Given the description of an element on the screen output the (x, y) to click on. 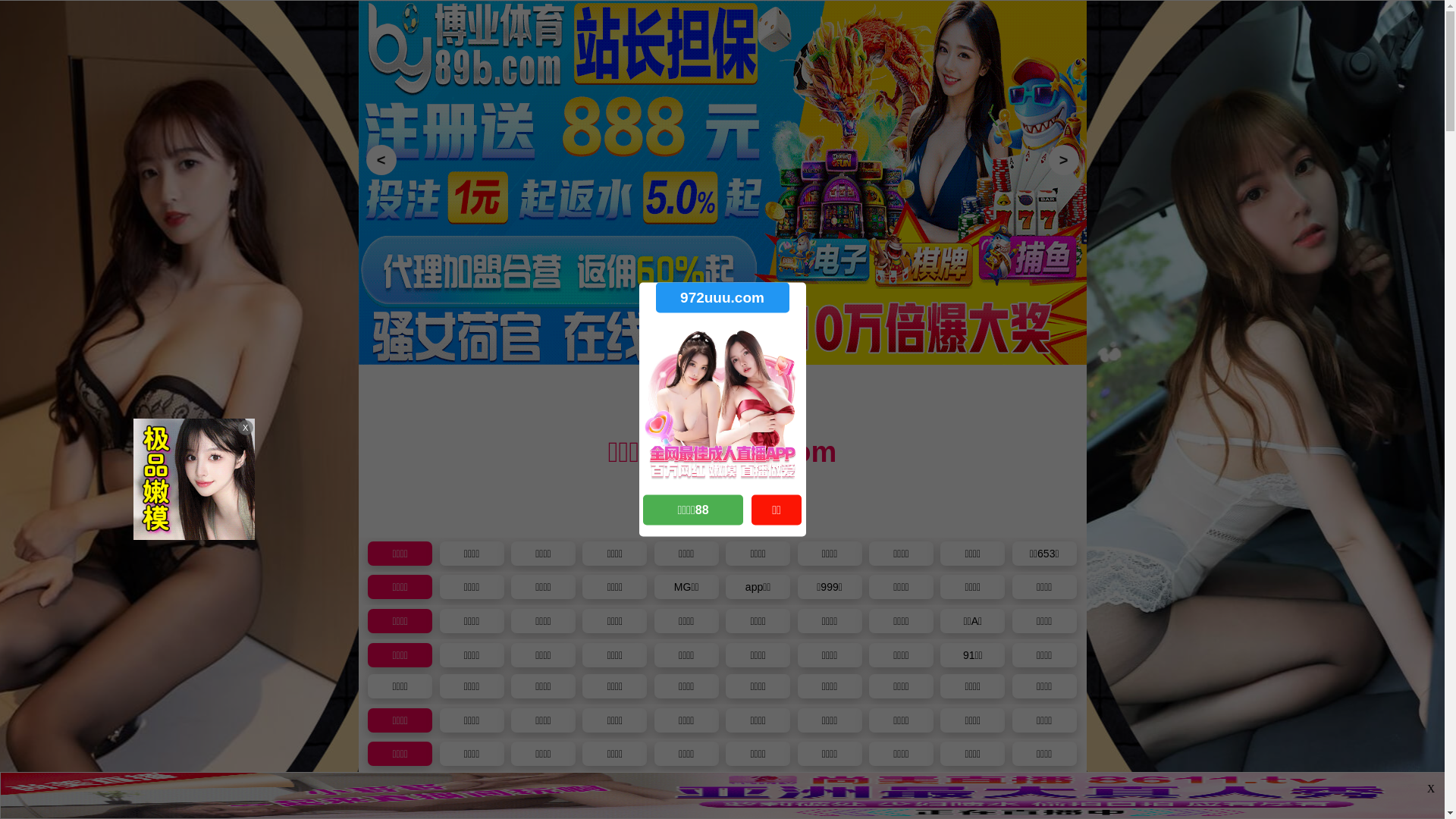
> Element type: text (1063, 159)
< Element type: text (380, 159)
X Element type: text (1430, 789)
972uuu.com Element type: text (721, 297)
